Given the description of an element on the screen output the (x, y) to click on. 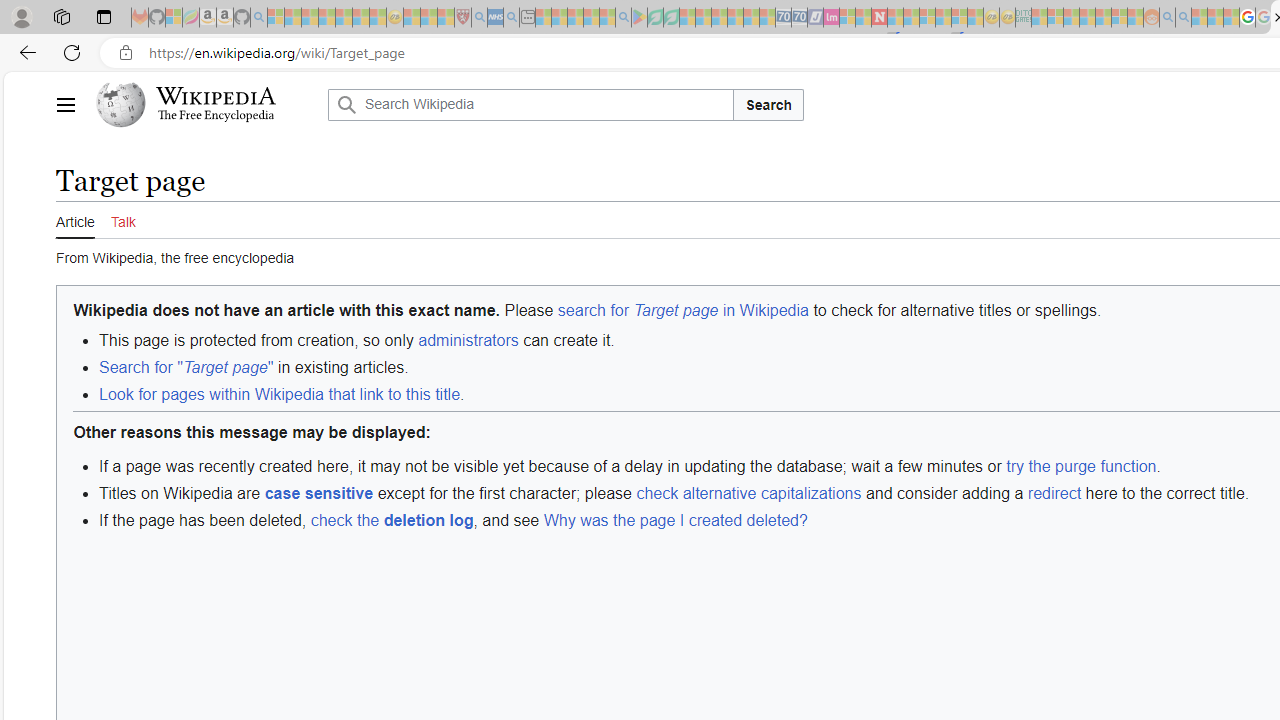
Kinda Frugal - MSN - Sleeping (1103, 17)
Utah sues federal government - Search - Sleeping (1183, 17)
Wikipedia (216, 96)
Talk (122, 219)
Bluey: Let's Play! - Apps on Google Play - Sleeping (639, 17)
The Free Encyclopedia (216, 116)
Local - MSN - Sleeping (445, 17)
Jobs - lastminute.com Investor Portal - Sleeping (831, 17)
administrators (468, 340)
